Given the description of an element on the screen output the (x, y) to click on. 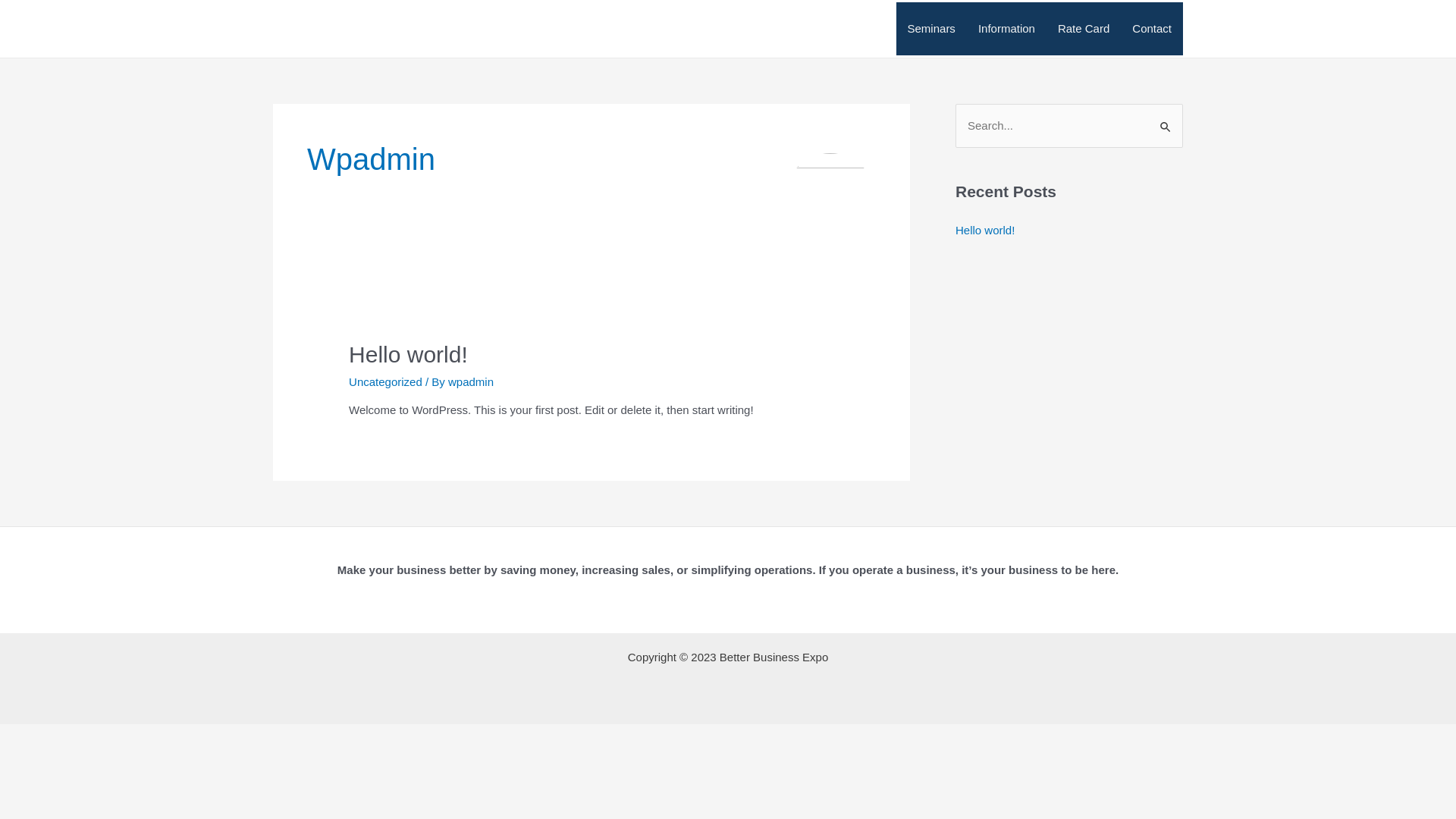
Information Element type: text (1006, 28)
Hello world! Element type: text (984, 229)
Hello world! Element type: text (407, 354)
wpadmin Element type: text (470, 381)
Better Business Expo Element type: text (422, 27)
Contact Element type: text (1151, 28)
Seminars Element type: text (931, 28)
Rate Card Element type: text (1083, 28)
Search Element type: text (1165, 118)
Uncategorized Element type: text (385, 381)
